Given the description of an element on the screen output the (x, y) to click on. 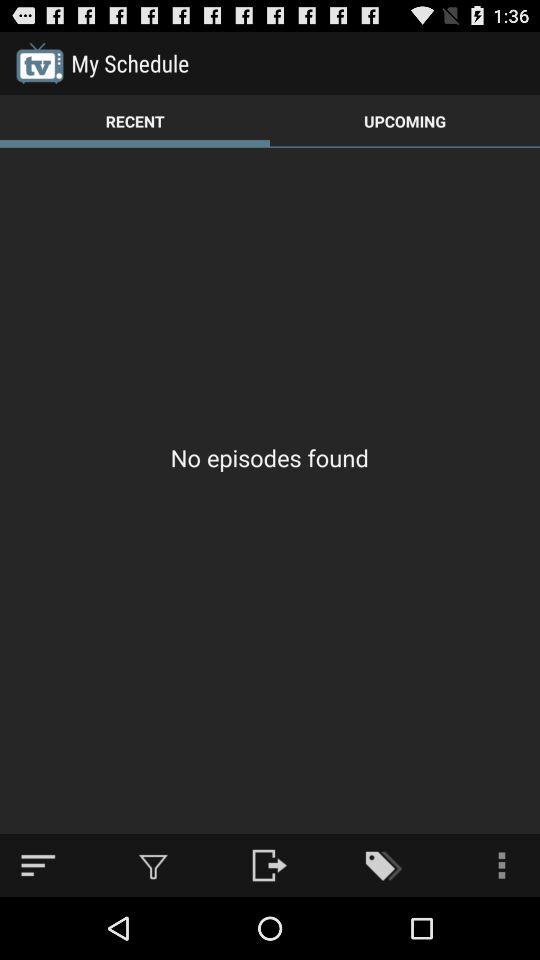
launch the icon at the top right corner (405, 120)
